Given the description of an element on the screen output the (x, y) to click on. 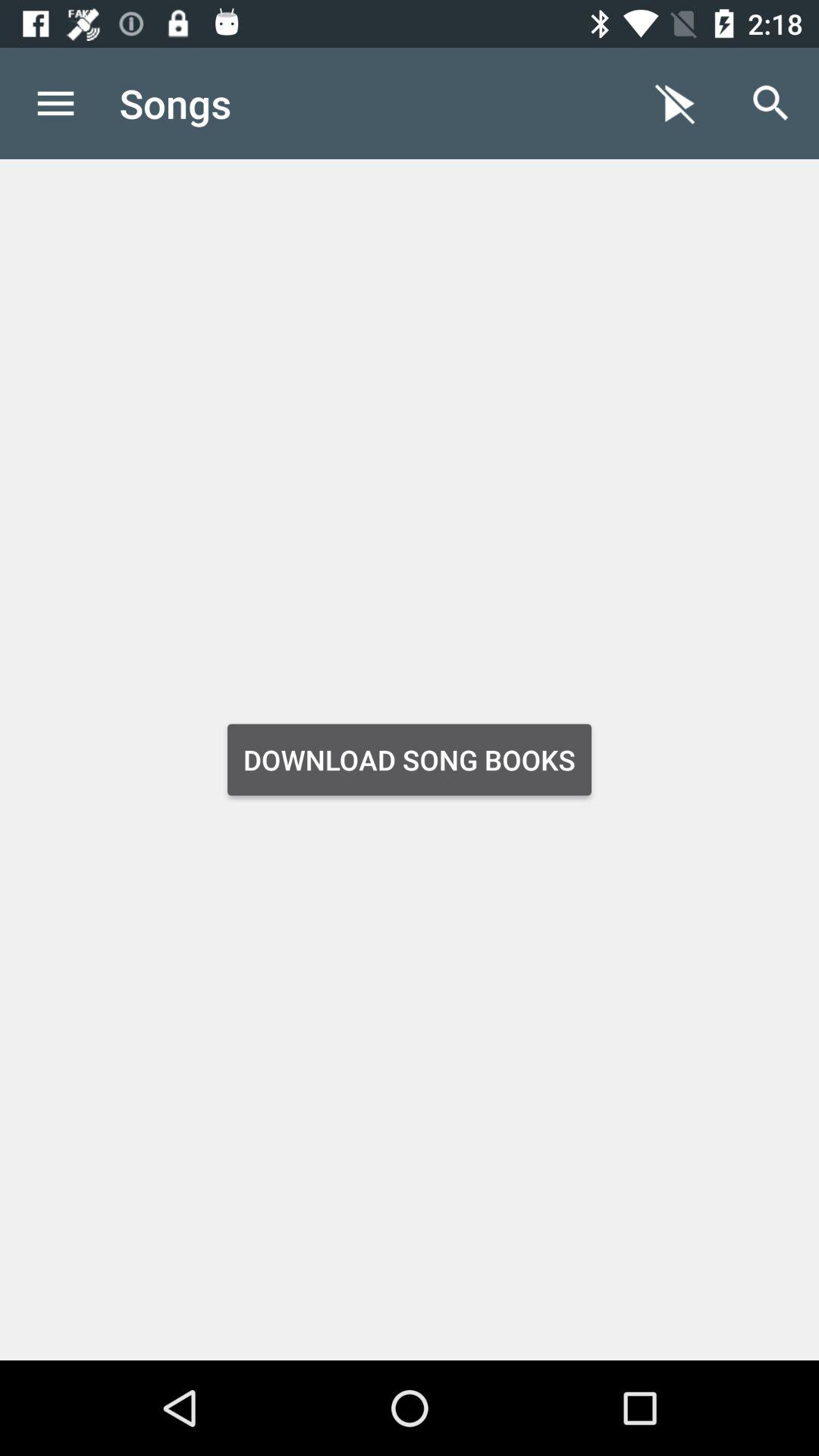
open the icon at the center (409, 759)
